Given the description of an element on the screen output the (x, y) to click on. 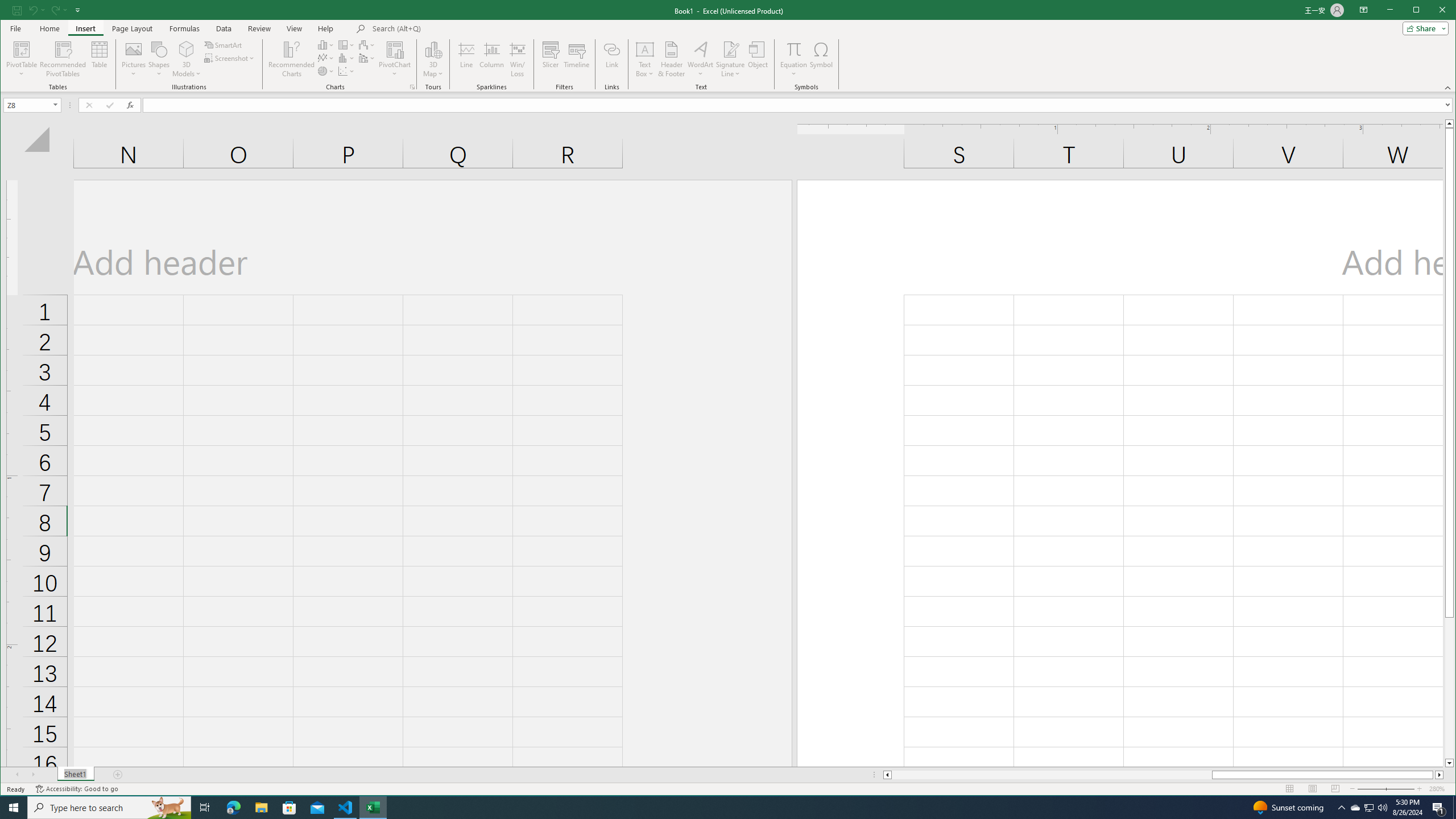
Insert Waterfall, Funnel, Stock, Surface, or Radar Chart (366, 44)
Signature Line (729, 48)
Equation (793, 48)
PivotTable (22, 59)
File Explorer (261, 807)
PivotTable (22, 48)
Draw Horizontal Text Box (644, 48)
Excel - 1 running window (373, 807)
